Given the description of an element on the screen output the (x, y) to click on. 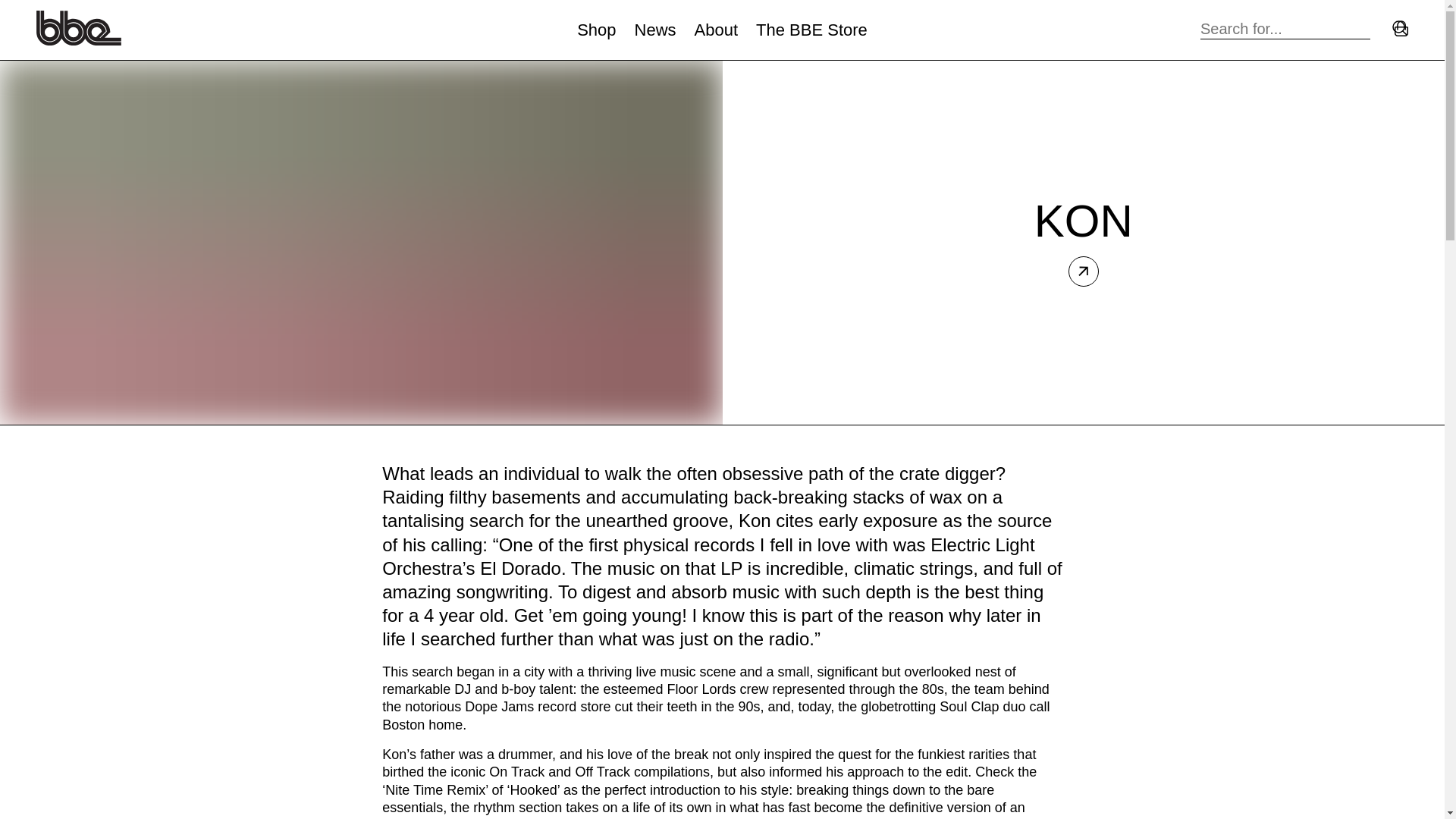
News (655, 29)
The BBE Store (811, 29)
Shop (595, 29)
About (716, 29)
